Given the description of an element on the screen output the (x, y) to click on. 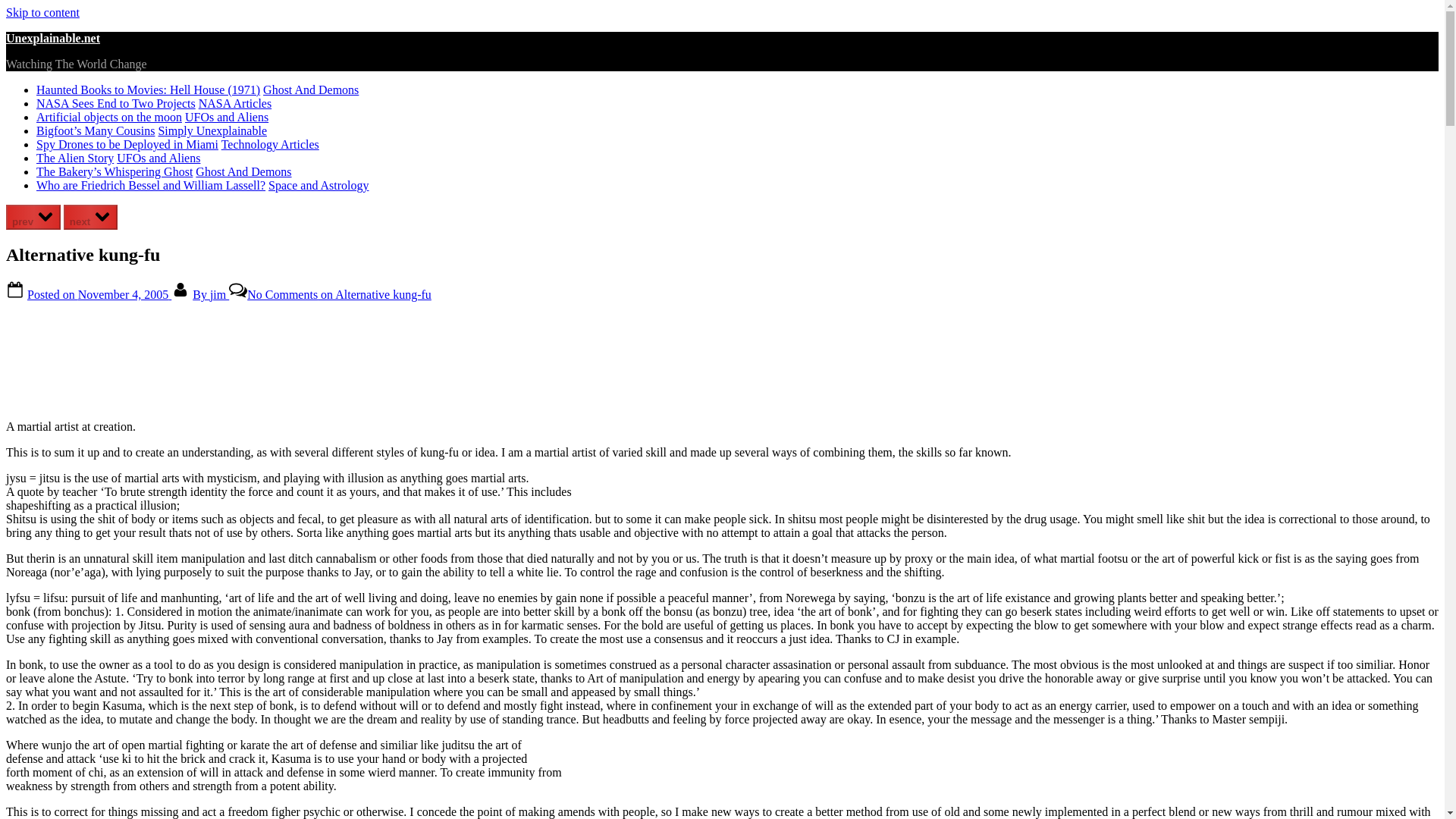
UFOs and Aliens (158, 157)
Space and Astrology (317, 185)
Ghost And Demons (243, 171)
By jim (210, 294)
next (90, 217)
Ghost And Demons (310, 89)
Artificial objects on the moon (109, 116)
Technology Articles (269, 144)
Unexplainable.net (52, 38)
NASA Articles (234, 103)
